Given the description of an element on the screen output the (x, y) to click on. 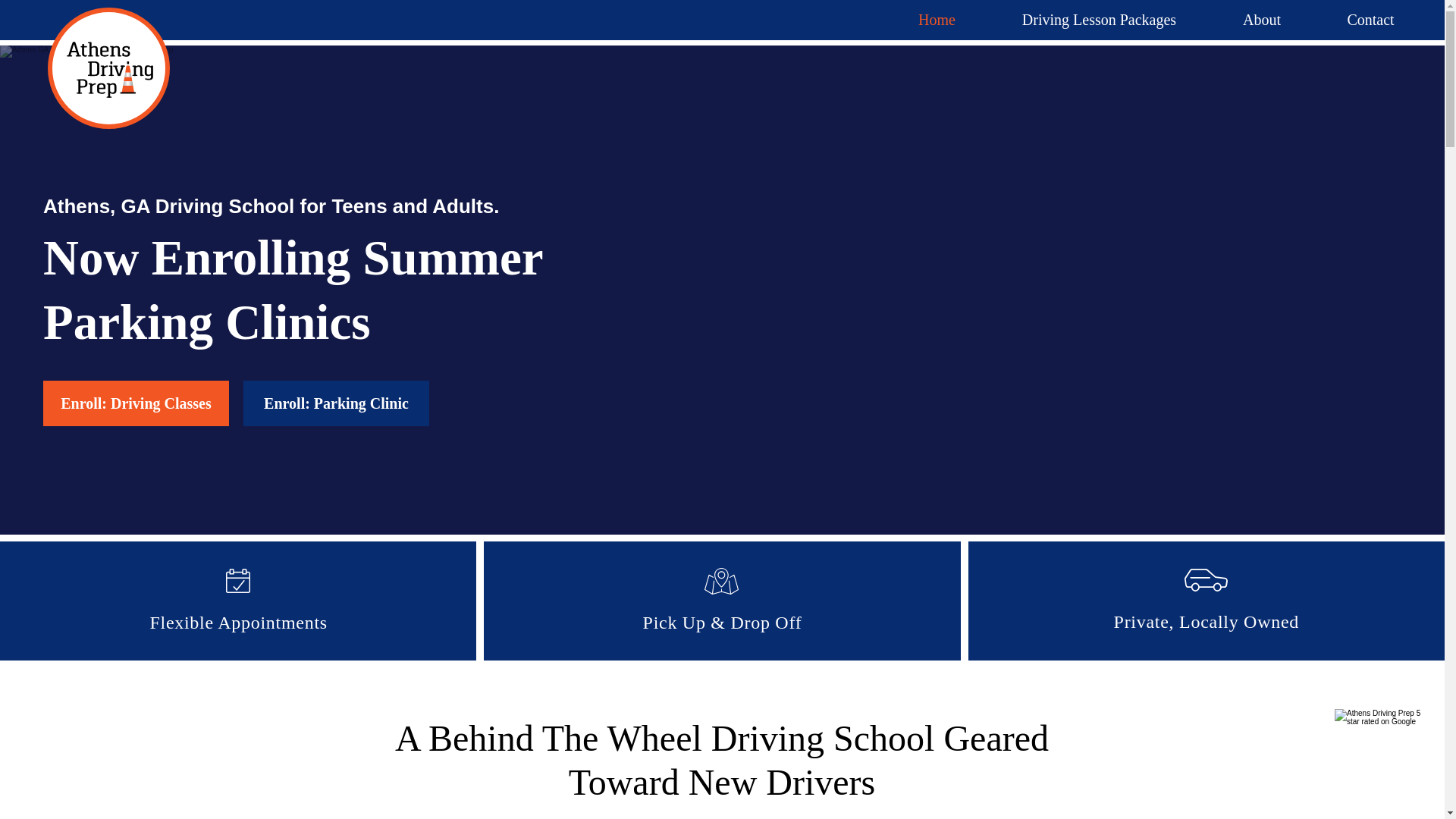
Contact (1370, 19)
Enroll: Parking Clinic (336, 402)
Enroll: Driving Classes (135, 402)
Home (936, 19)
Driving Lesson Packages (1098, 19)
